Given the description of an element on the screen output the (x, y) to click on. 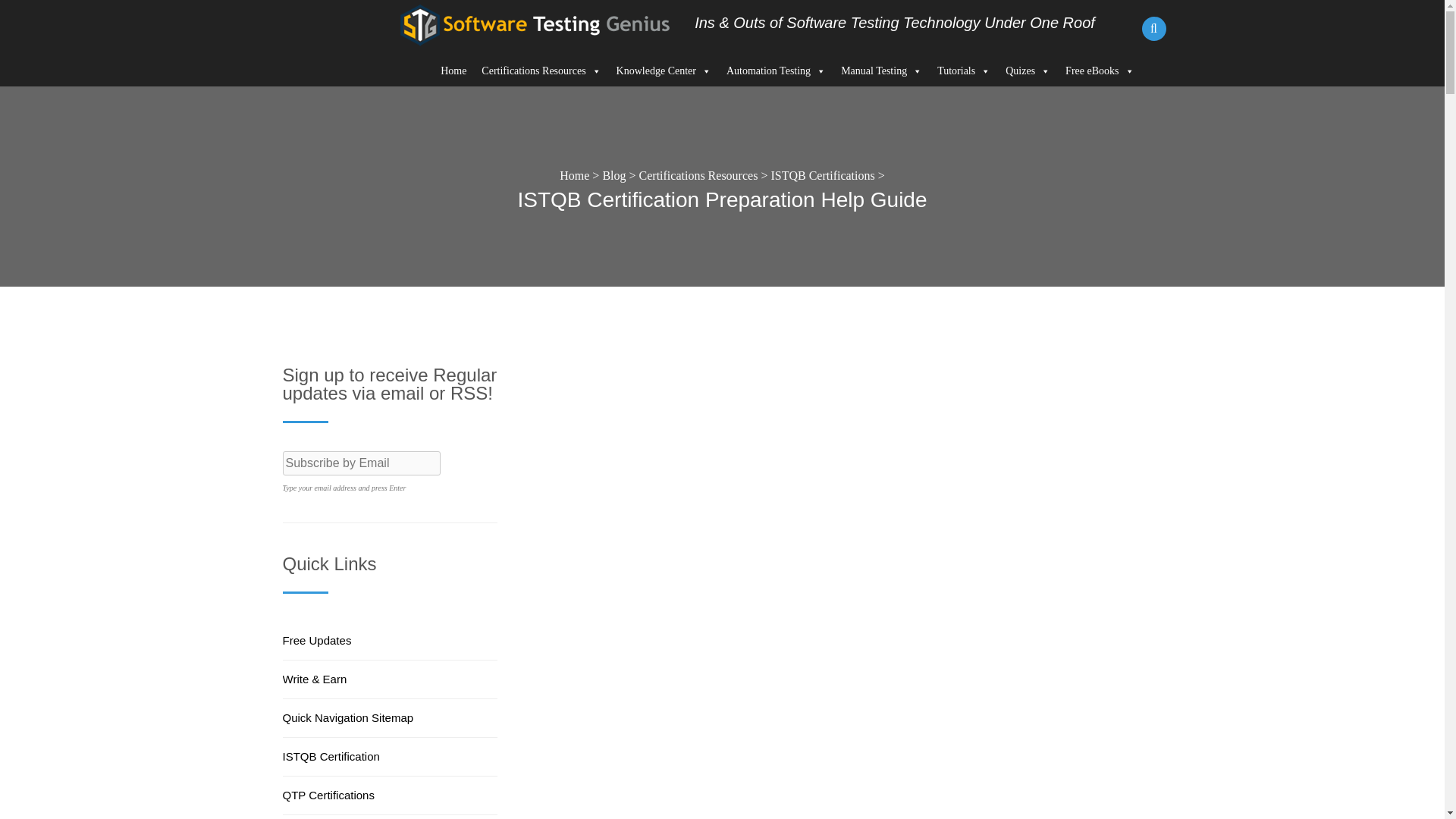
Go to the Certifications Resources category archives. (698, 174)
Knowledge Center (663, 71)
Certifications Resources (541, 71)
Go to Blog. (614, 174)
Go to Software Testing Genius. (574, 174)
Home (453, 71)
Go to the ISTQB Certifications category archives. (822, 174)
